Given the description of an element on the screen output the (x, y) to click on. 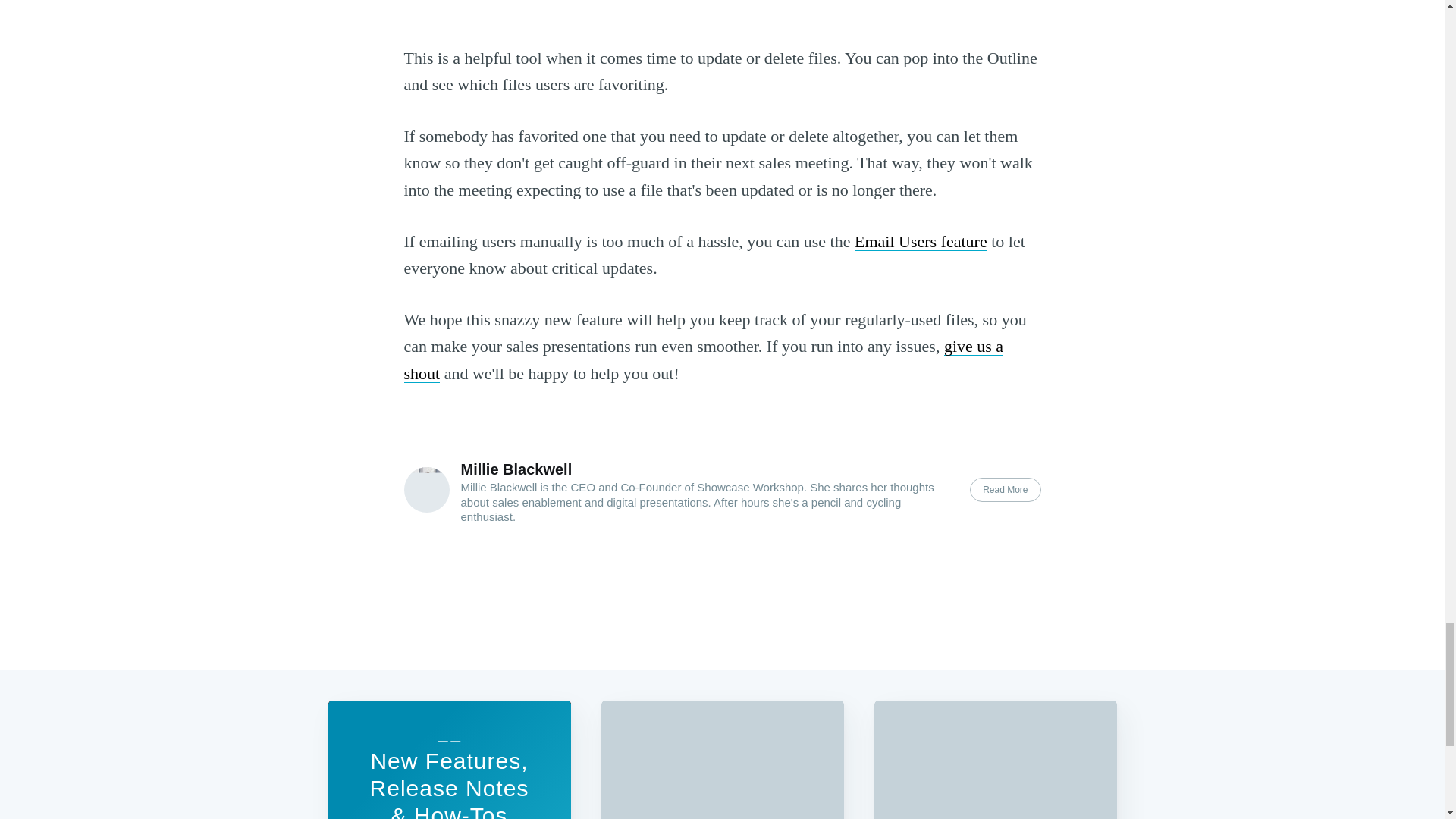
Millie Blackwell (516, 469)
Email Users feature (920, 240)
give us a shout (703, 359)
Read More (1005, 489)
